Given the description of an element on the screen output the (x, y) to click on. 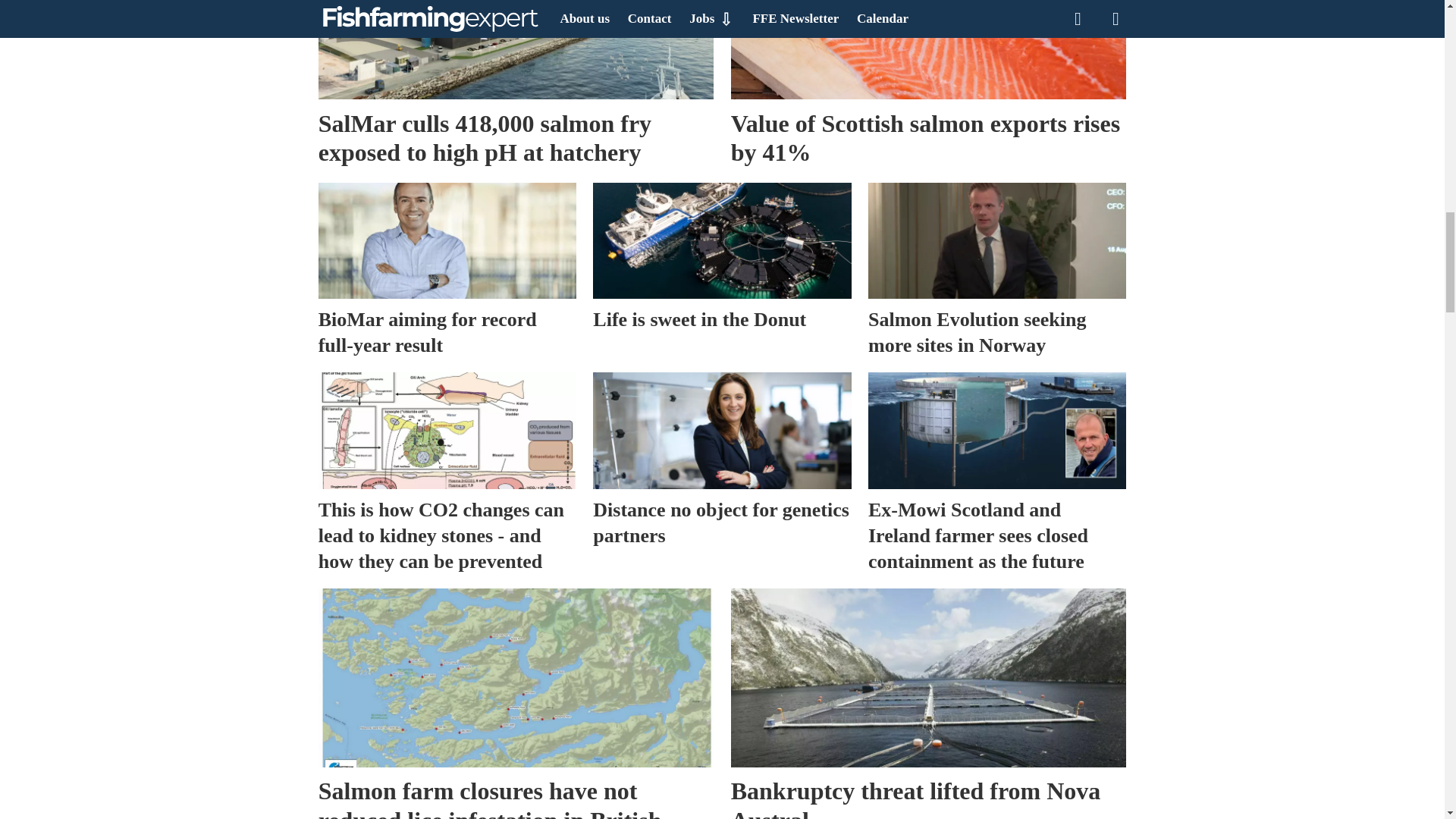
Bankruptcy threat lifted from Nova Austral (928, 677)
BioMar aiming for record full-year result (447, 240)
Distance no object for genetics partners (721, 430)
Life is sweet in the Donut (721, 240)
Record high harvest for Salmon Evolution (996, 240)
